Given the description of an element on the screen output the (x, y) to click on. 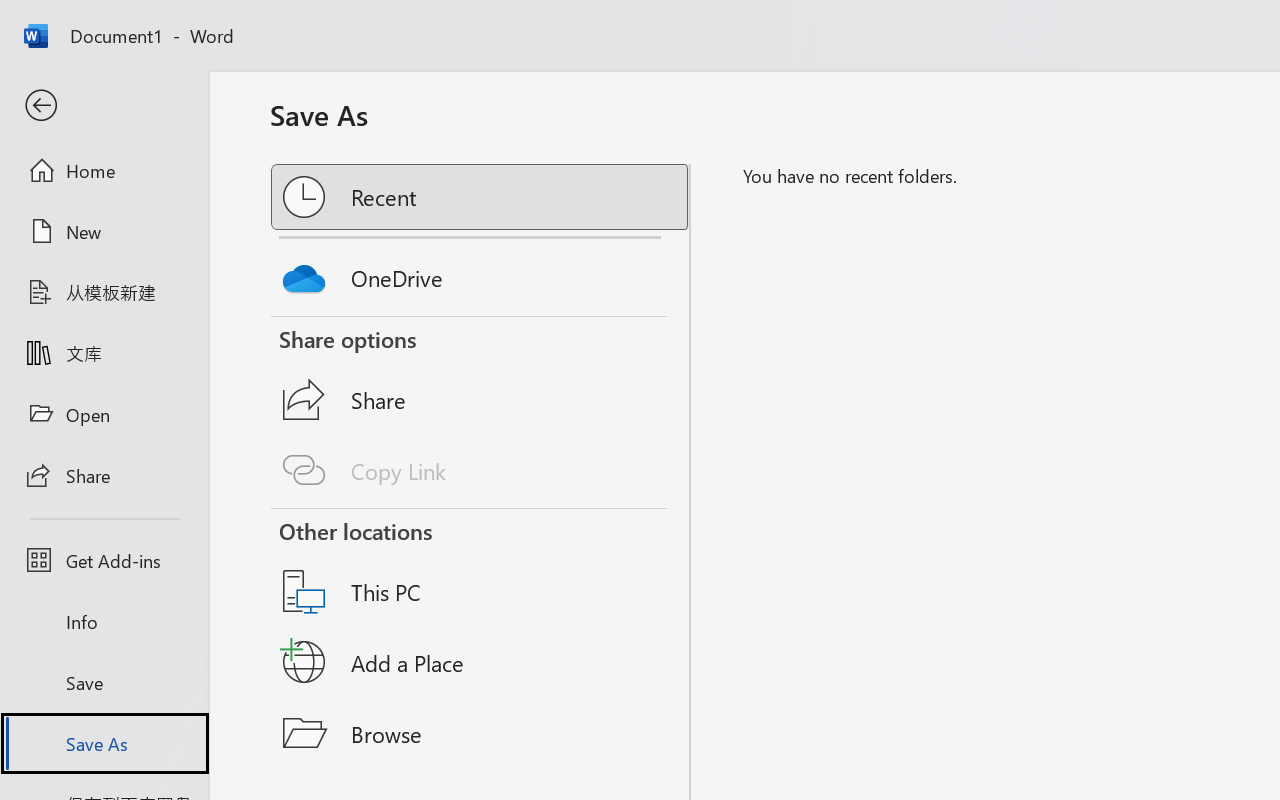
Copy Link (481, 469)
New (104, 231)
Back (104, 106)
Get Add-ins (104, 560)
OneDrive (481, 273)
Save As (104, 743)
Browse (481, 733)
